Given the description of an element on the screen output the (x, y) to click on. 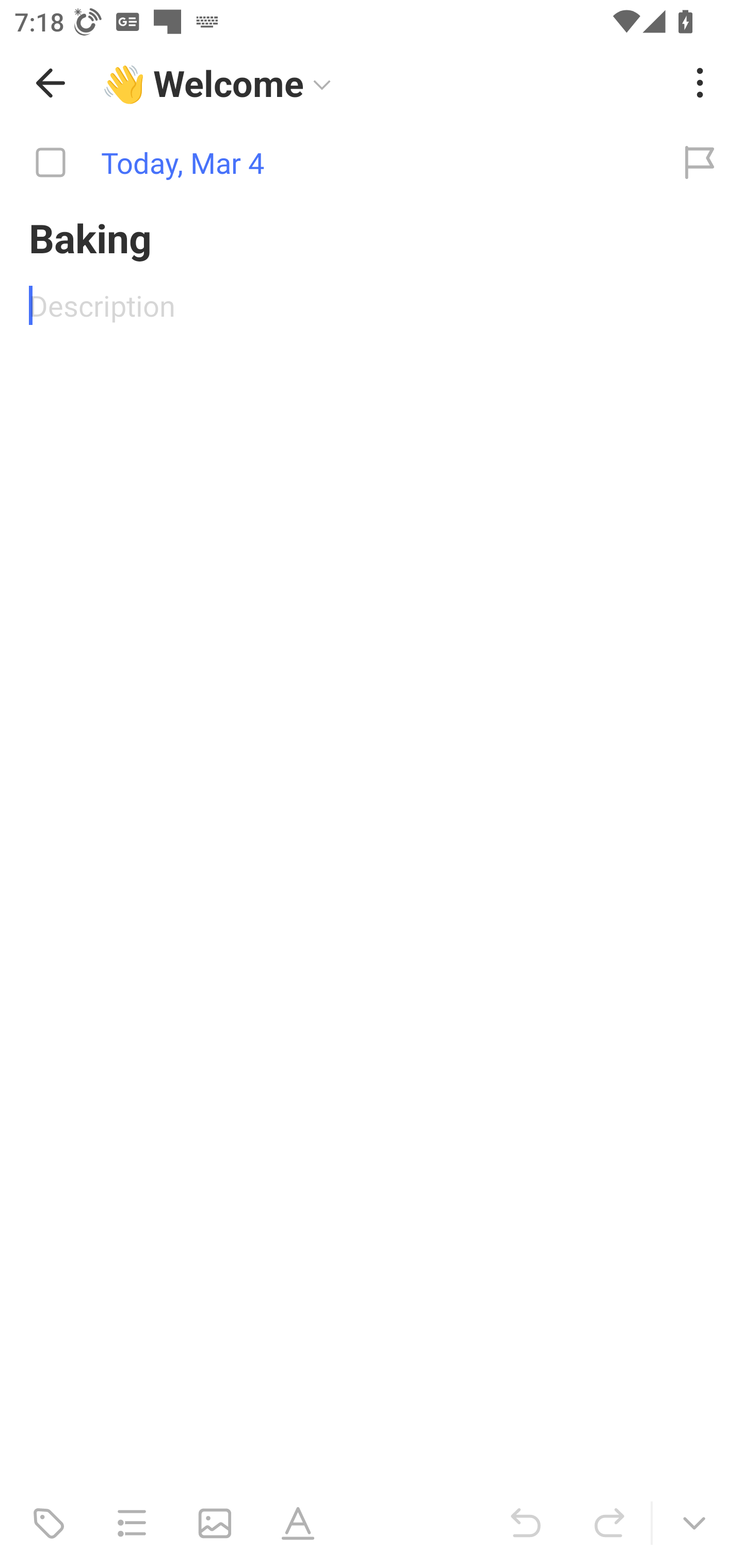
👋 Welcome (384, 82)
Today, Mar 4  (328, 163)
Baking (371, 237)
Description (371, 304)
